Given the description of an element on the screen output the (x, y) to click on. 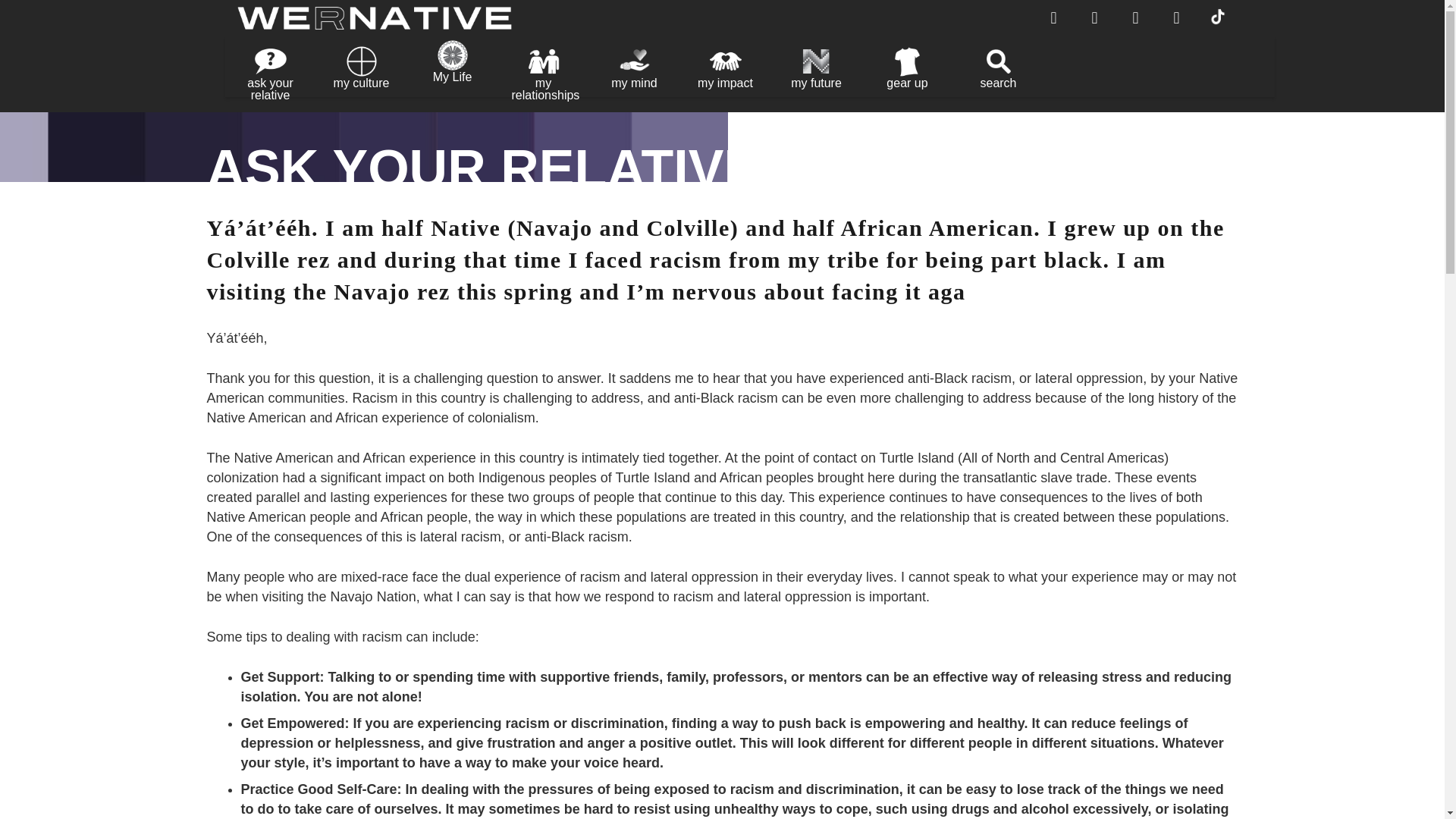
tiktok (1217, 27)
twitter (1094, 17)
youtube (1135, 17)
ask your relative (269, 70)
facebook (1054, 17)
tiktok (1217, 15)
instagram (1176, 17)
my culture (360, 70)
My Life (451, 70)
